Given the description of an element on the screen output the (x, y) to click on. 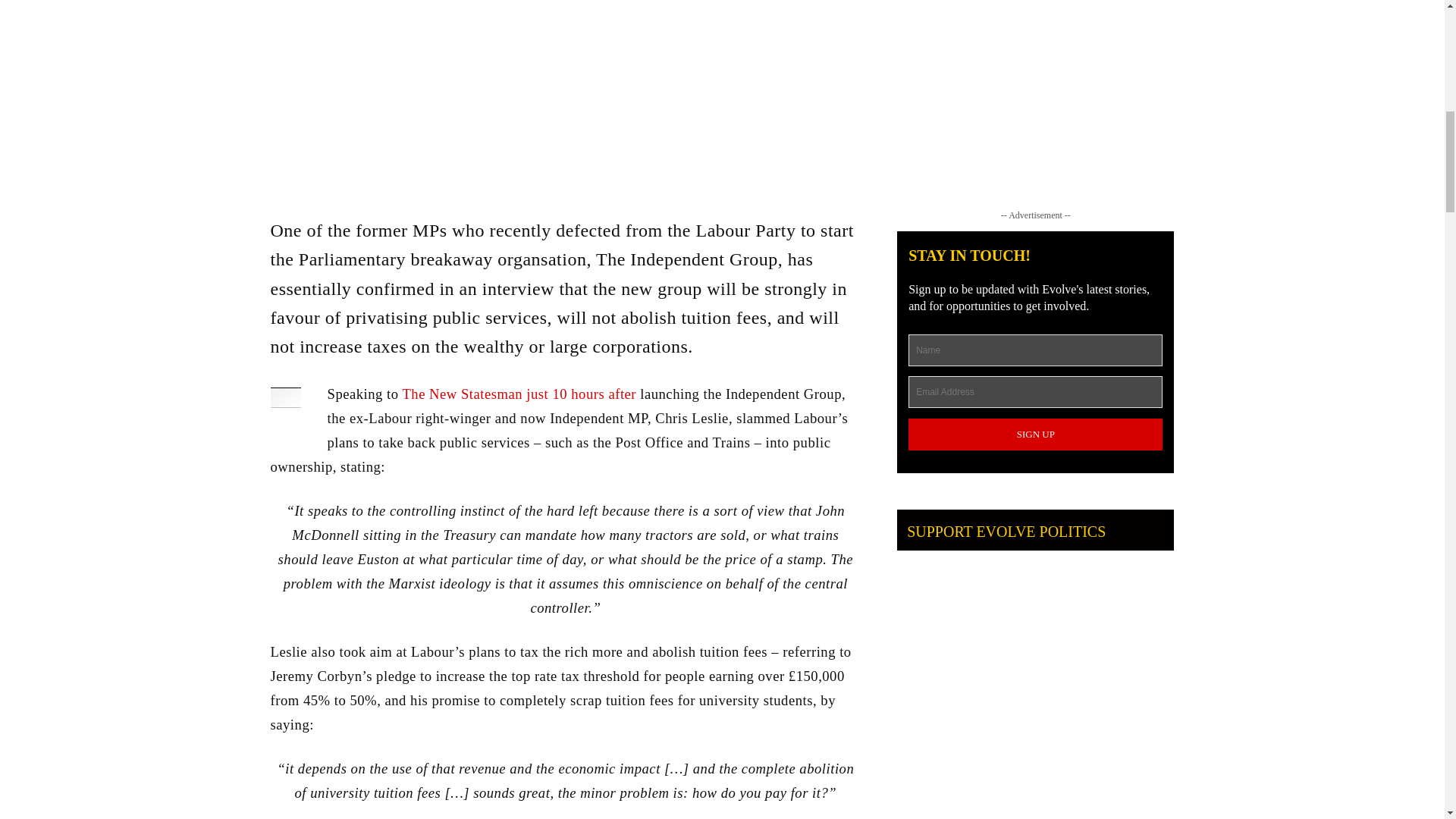
Sign Up (1034, 434)
